Given the description of an element on the screen output the (x, y) to click on. 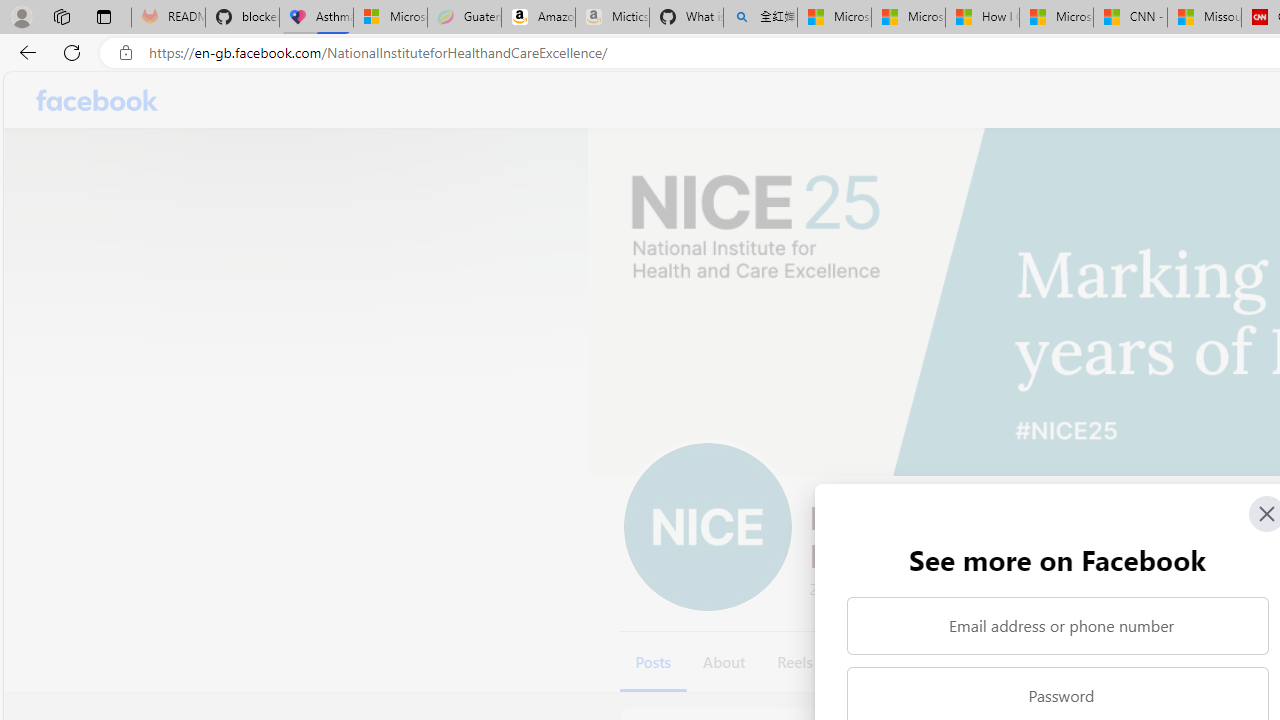
CNN - MSN (1130, 17)
Facebook (97, 99)
Email address or phone number (1057, 625)
